Given the description of an element on the screen output the (x, y) to click on. 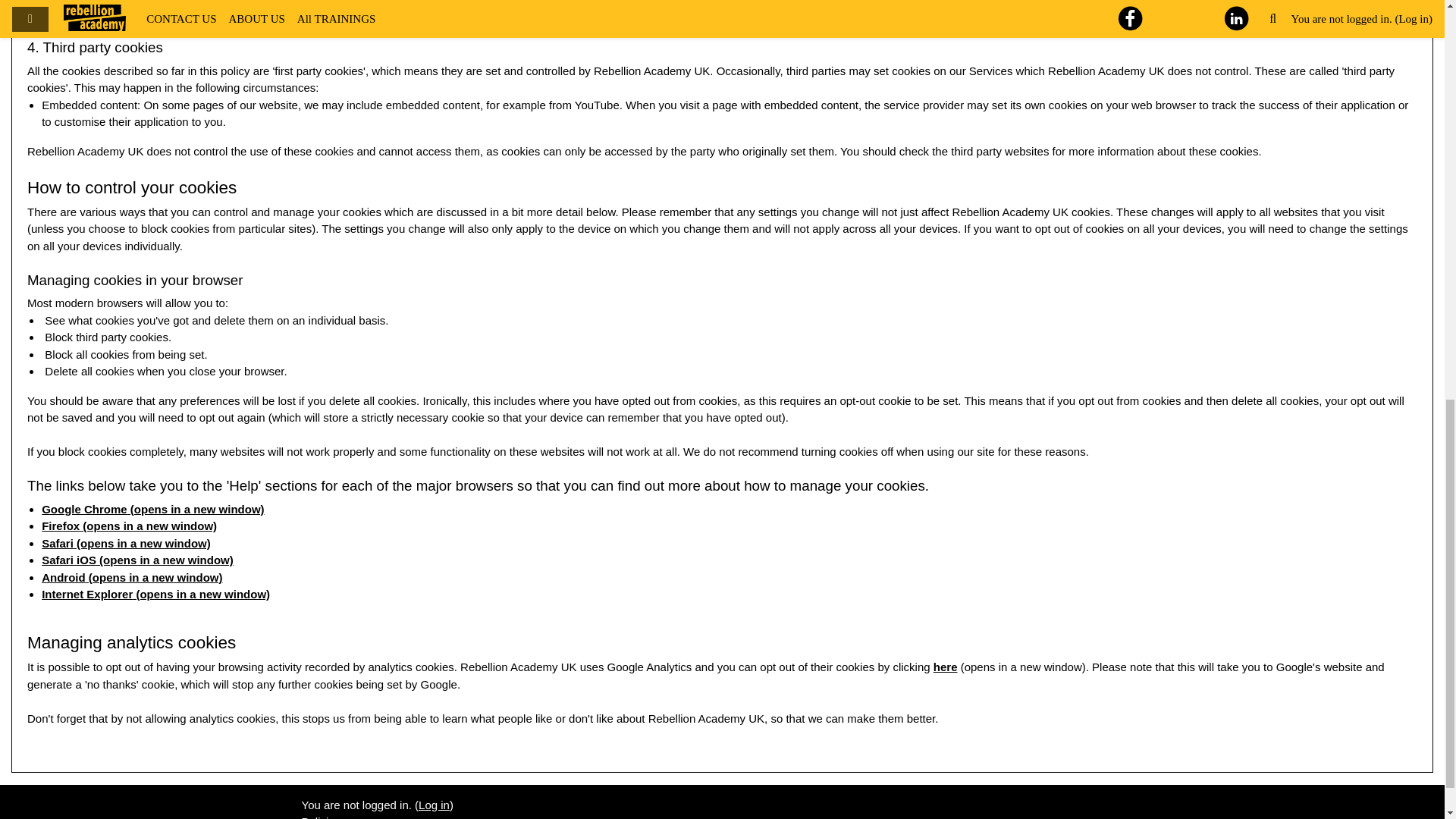
Policies (320, 816)
Google Chrome (85, 508)
Internet Explorer (87, 594)
Android (63, 576)
here (945, 666)
Safari iOS (69, 559)
Safari (58, 543)
Log in (434, 803)
Firefox (61, 525)
